Given the description of an element on the screen output the (x, y) to click on. 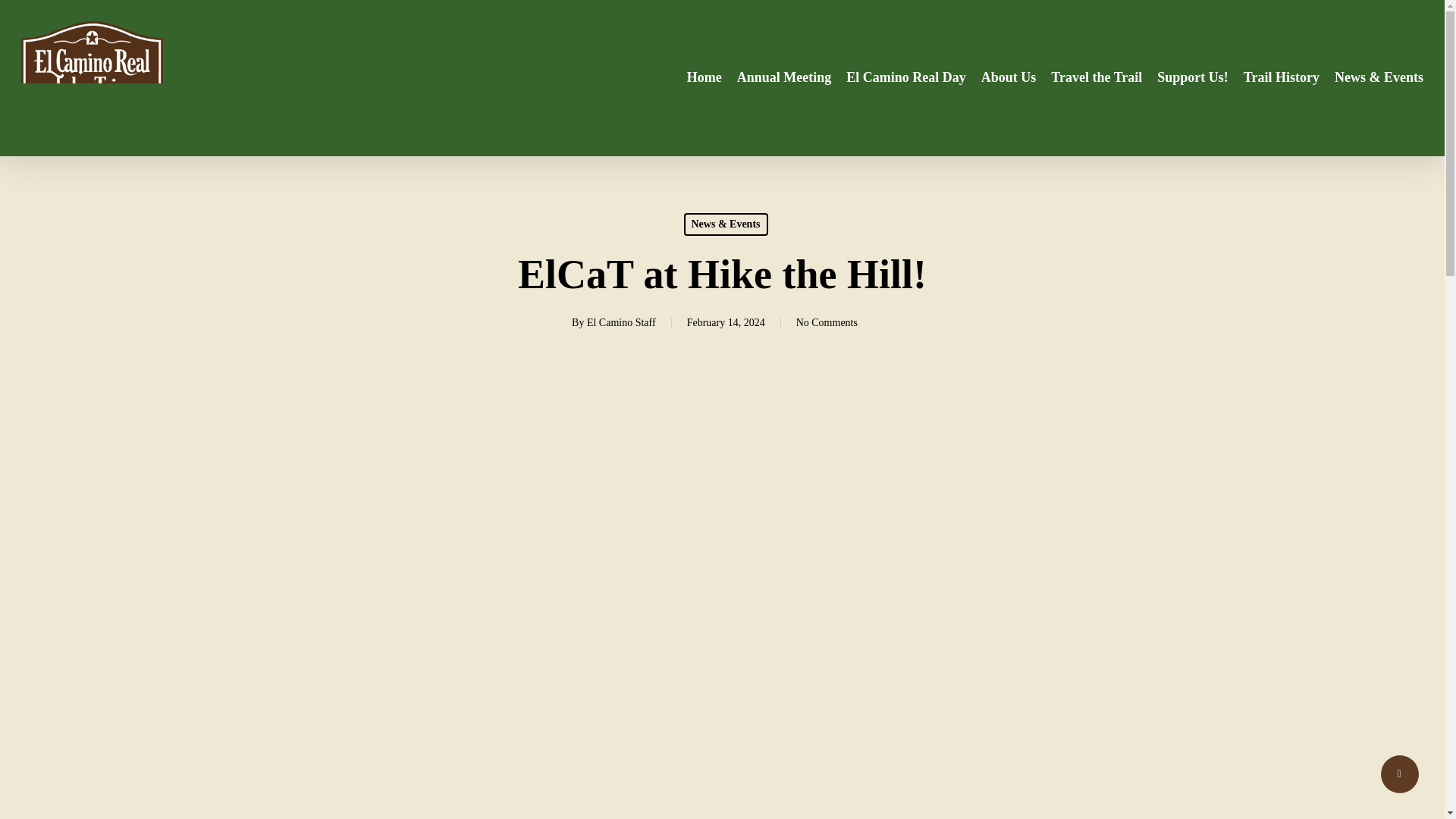
Support Us! (1192, 76)
Trail History (1281, 76)
About Us (1008, 76)
Home (704, 76)
Travel the Trail (1096, 76)
Annual Meeting (783, 76)
El Camino Real Day (905, 76)
Posts by El Camino Staff (621, 322)
